Given the description of an element on the screen output the (x, y) to click on. 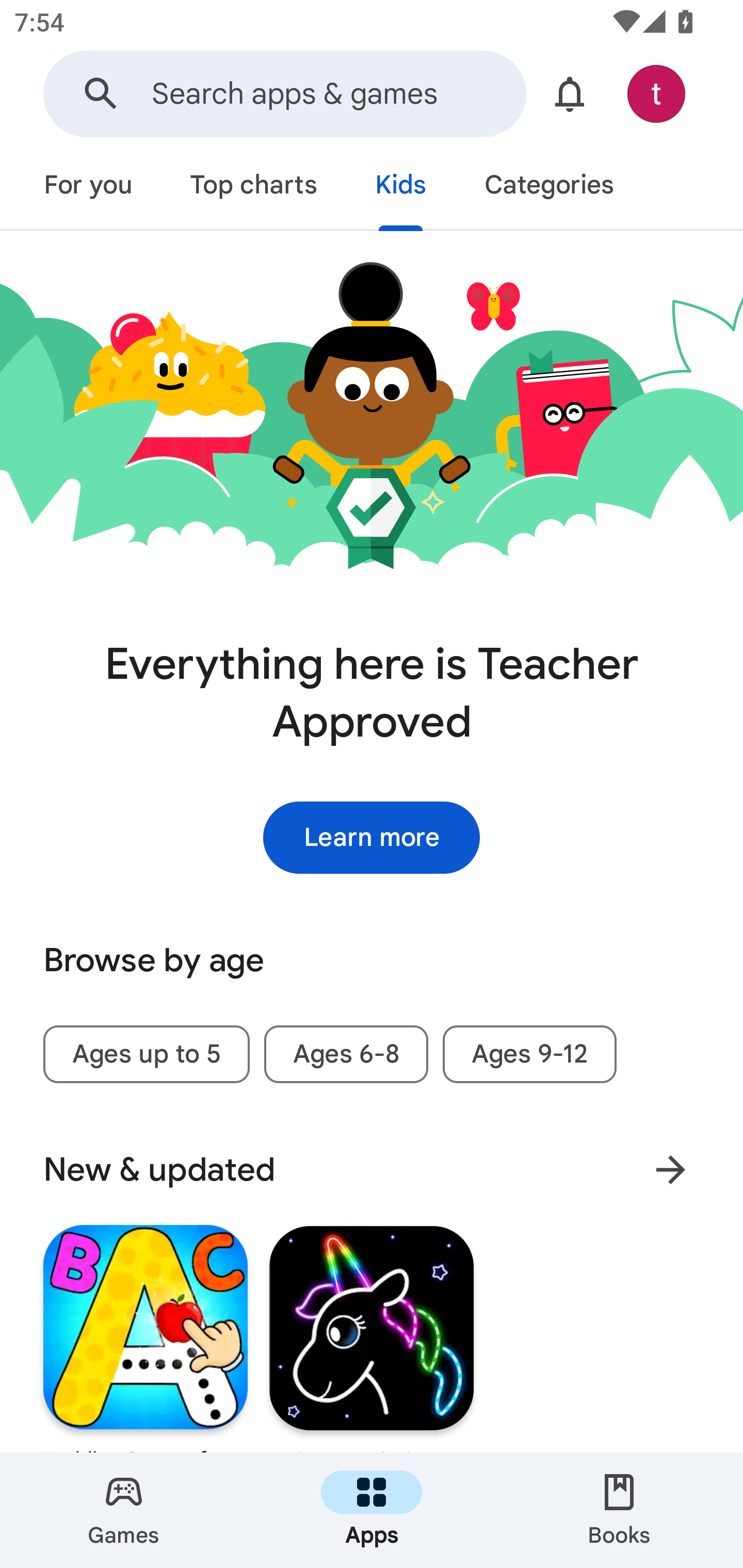
Search Google Play Search apps & games (284, 93)
Search Google Play (100, 93)
Show notifications and offers. (569, 93)
For you (87, 187)
Top charts (253, 187)
Categories (548, 187)
Ages up to 5 - tap the chip to check the content. (146, 1054)
Ages 6-8 - tap the chip to check the content. (345, 1054)
Ages 9-12 - tap the chip to check the content. (529, 1054)
New & updated More results for New & updated (371, 1169)
More results for New & updated (670, 1169)
Toddler Games for 2+ Year Olds
 (145, 1335)
Unicorn Coloring Girl Games
 (371, 1335)
Games (123, 1509)
Books (619, 1509)
